Given the description of an element on the screen output the (x, y) to click on. 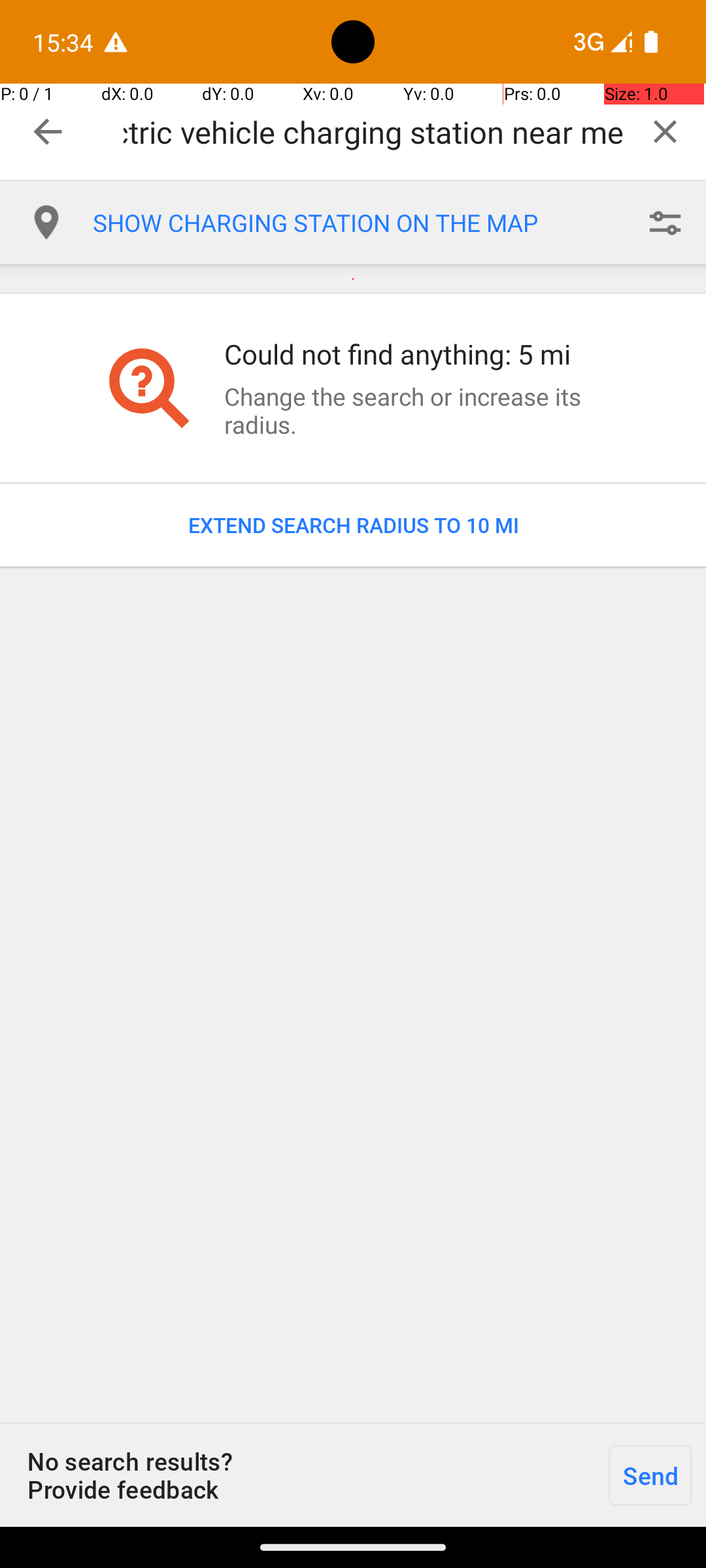
No search results?
Provide feedback Element type: android.widget.TextView (297, 1475)
Charging station Electric vehicle charging station near me Element type: android.widget.EditText (373, 131)
Clear Element type: android.widget.ImageButton (664, 131)
SHOW CHARGING STATION ON THE MAP Element type: android.widget.TextView (357, 222)
Custom filter Element type: android.widget.ImageButton (664, 222)
Send Element type: android.widget.TextView (650, 1475)
Could not find anything: 5 mi Element type: android.widget.TextView (414, 353)
Change the search or increase its radius. Element type: android.widget.TextView (414, 410)
EXTEND SEARCH RADIUS TO 10 MI Element type: android.widget.TextView (352, 524)
